Given the description of an element on the screen output the (x, y) to click on. 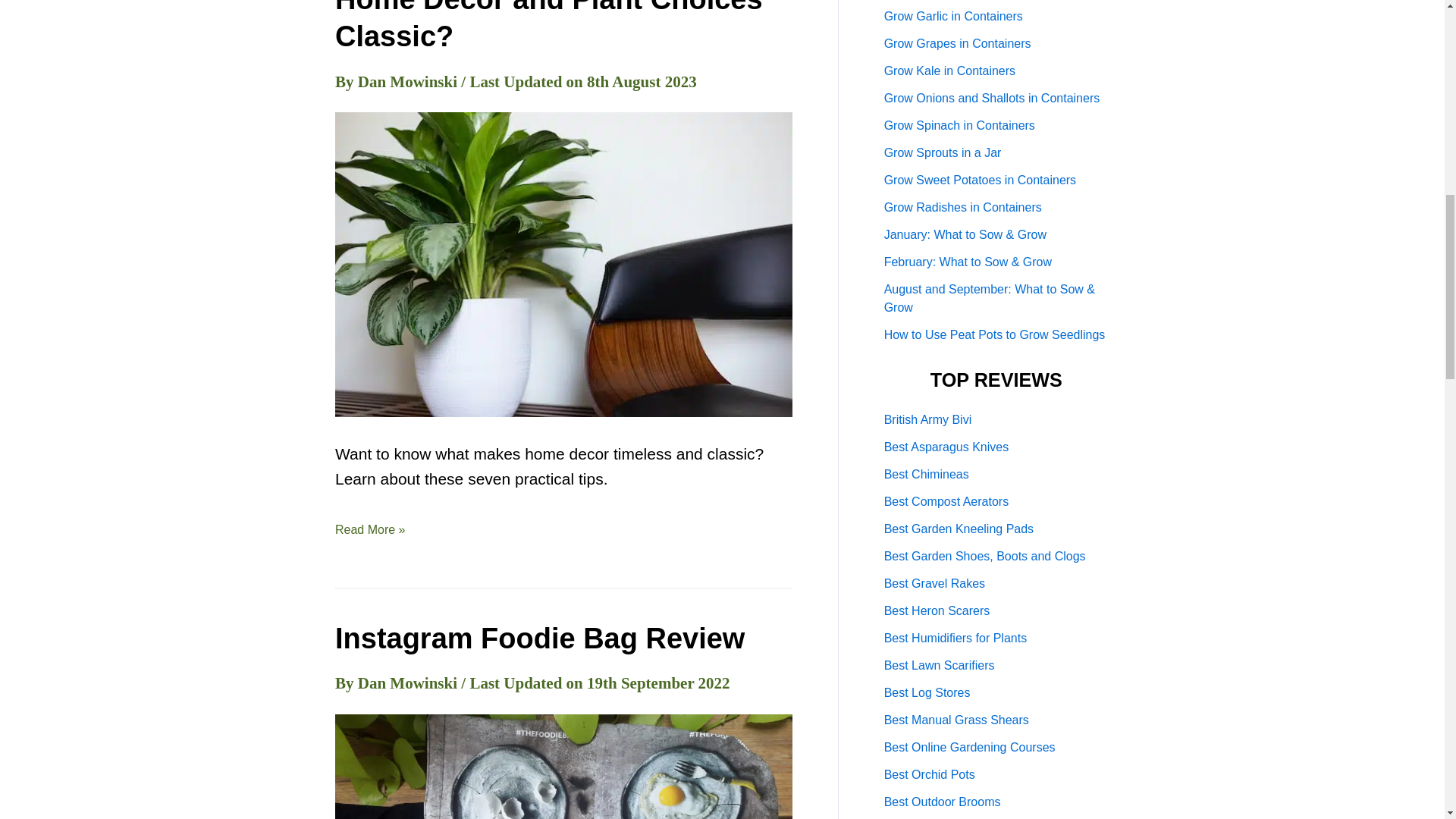
Dan Mowinski (409, 81)
View all posts by Dan Mowinski (409, 81)
Instagram Foodie Bag Review (539, 638)
Dan Mowinski (409, 683)
View all posts by Dan Mowinski (409, 683)
